Given the description of an element on the screen output the (x, y) to click on. 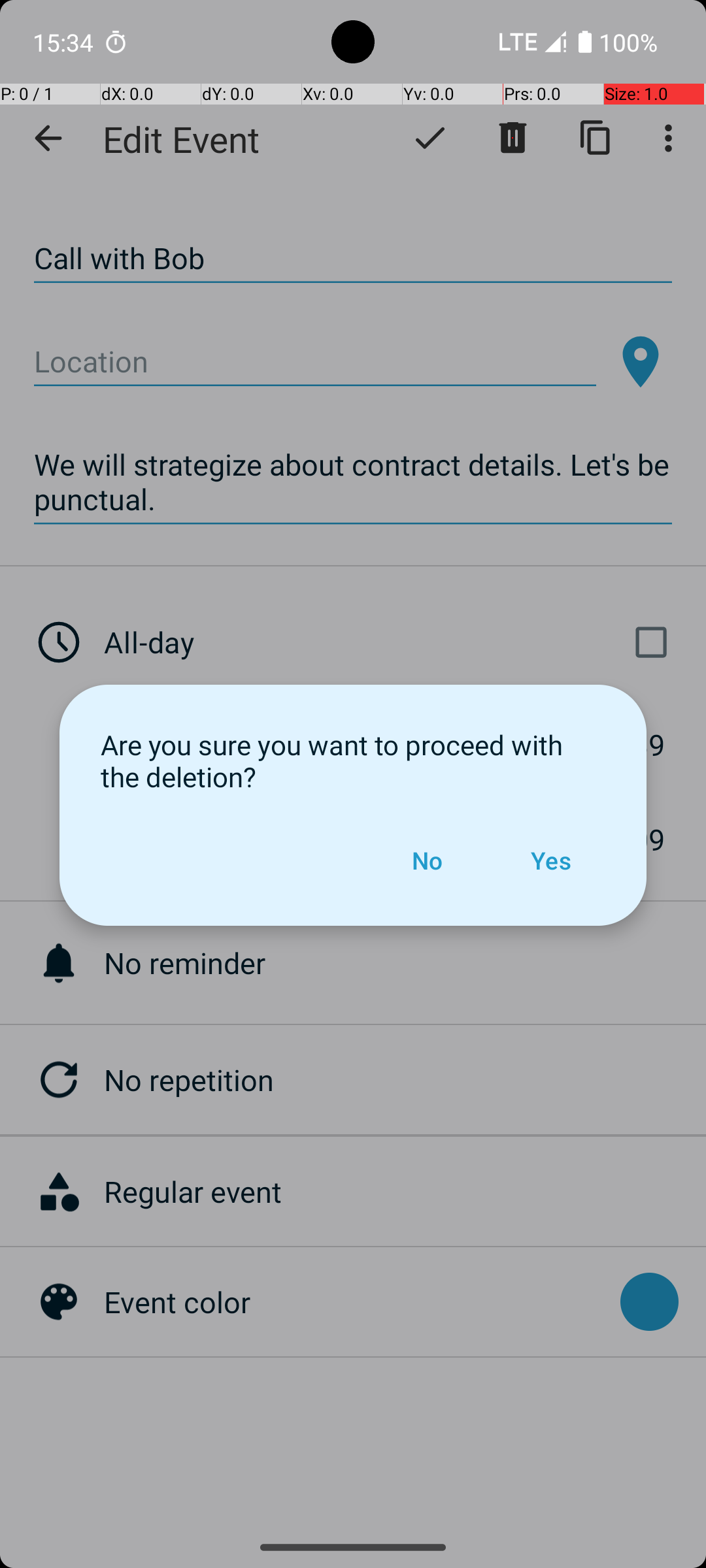
Are you sure you want to proceed with the deletion? Element type: android.widget.TextView (352, 760)
No Element type: android.widget.Button (426, 860)
Yes Element type: android.widget.Button (550, 860)
